Given the description of an element on the screen output the (x, y) to click on. 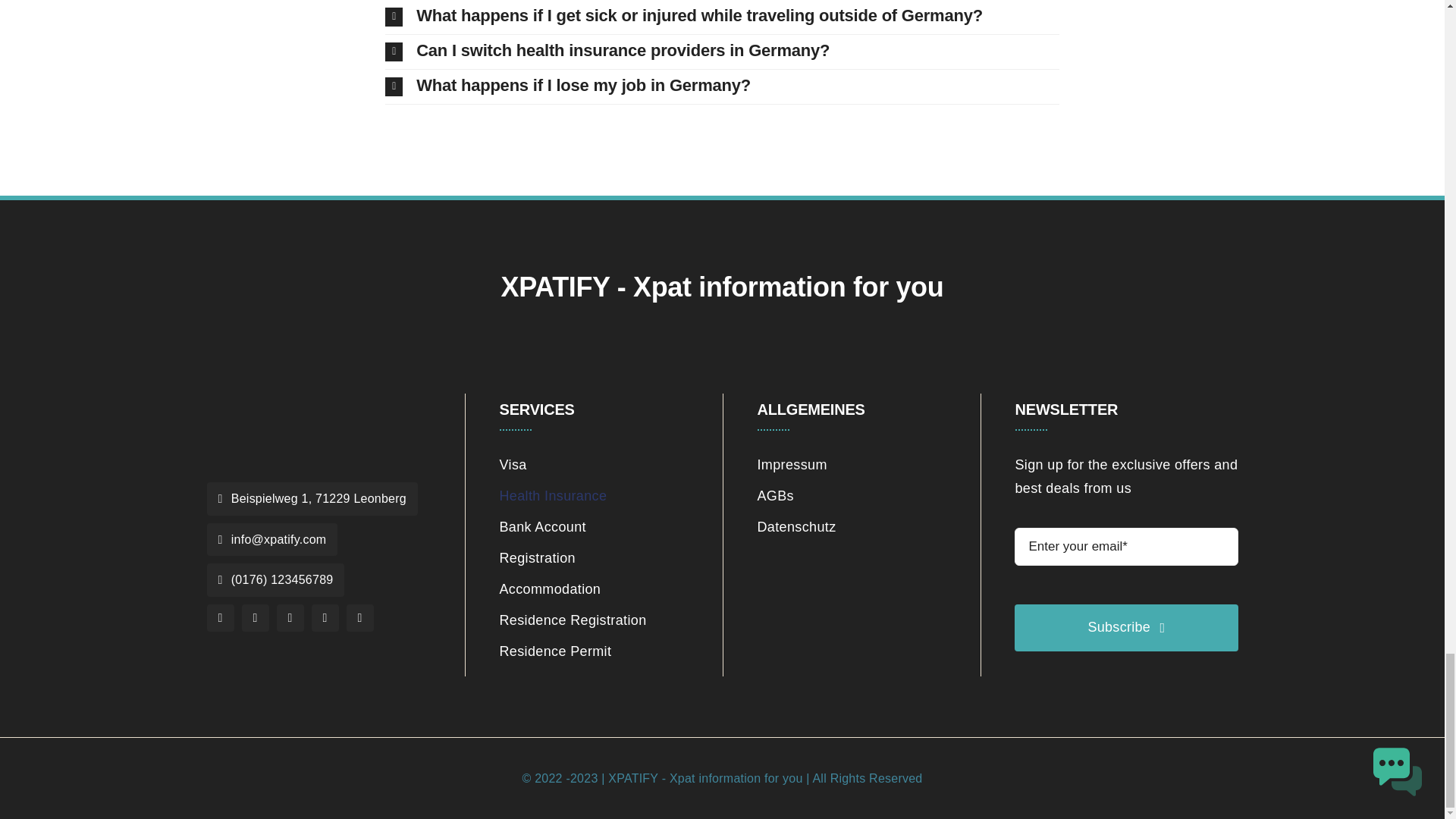
Subscribe (1125, 593)
